Given the description of an element on the screen output the (x, y) to click on. 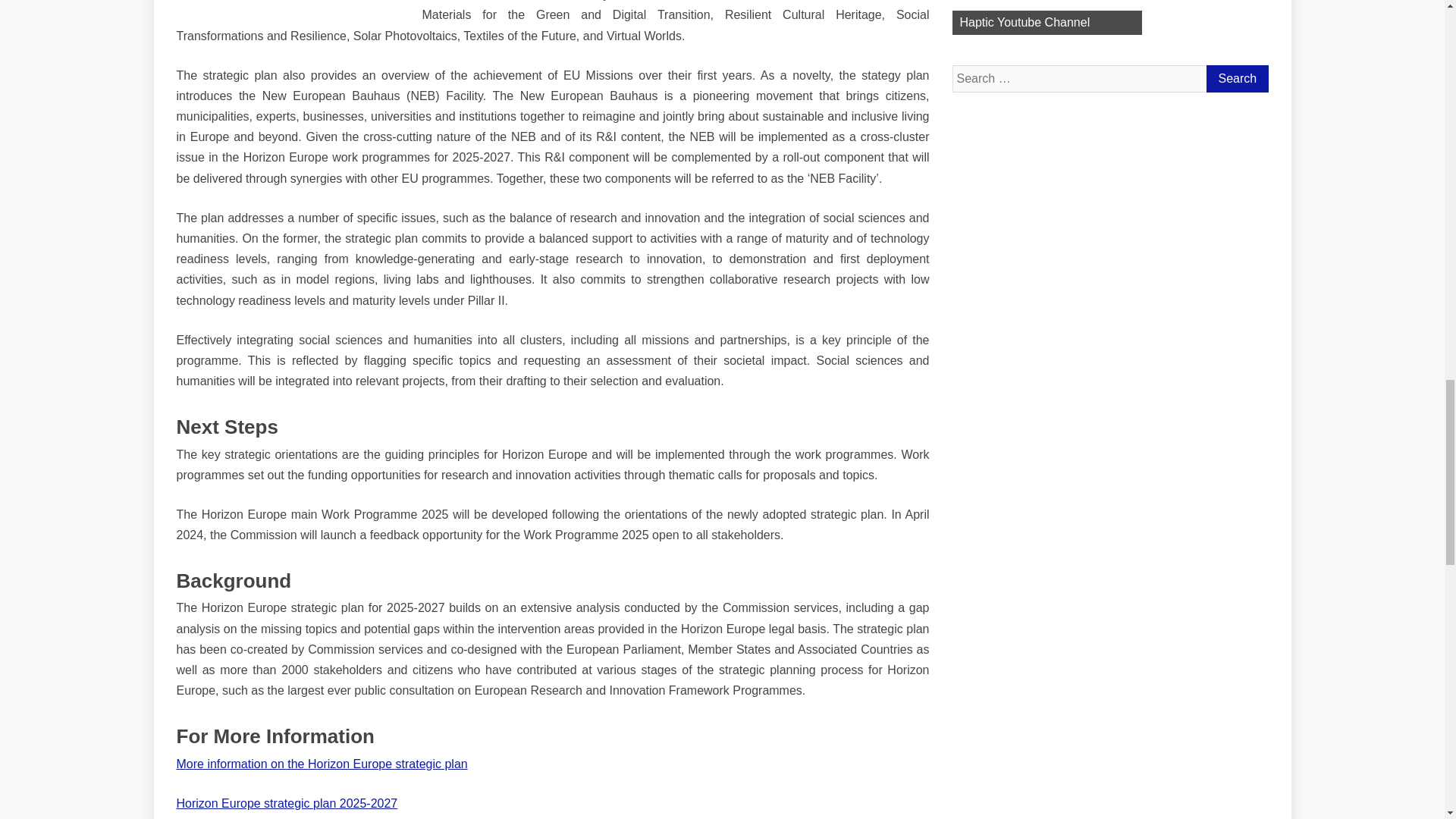
Search (1236, 78)
Search (1236, 78)
More information on the Horizon Europe strategic plan (321, 763)
HAPTIC LOGO 1 (1046, 17)
Horizon Europe strategic plan 2025-2027 (286, 802)
